Given the description of an element on the screen output the (x, y) to click on. 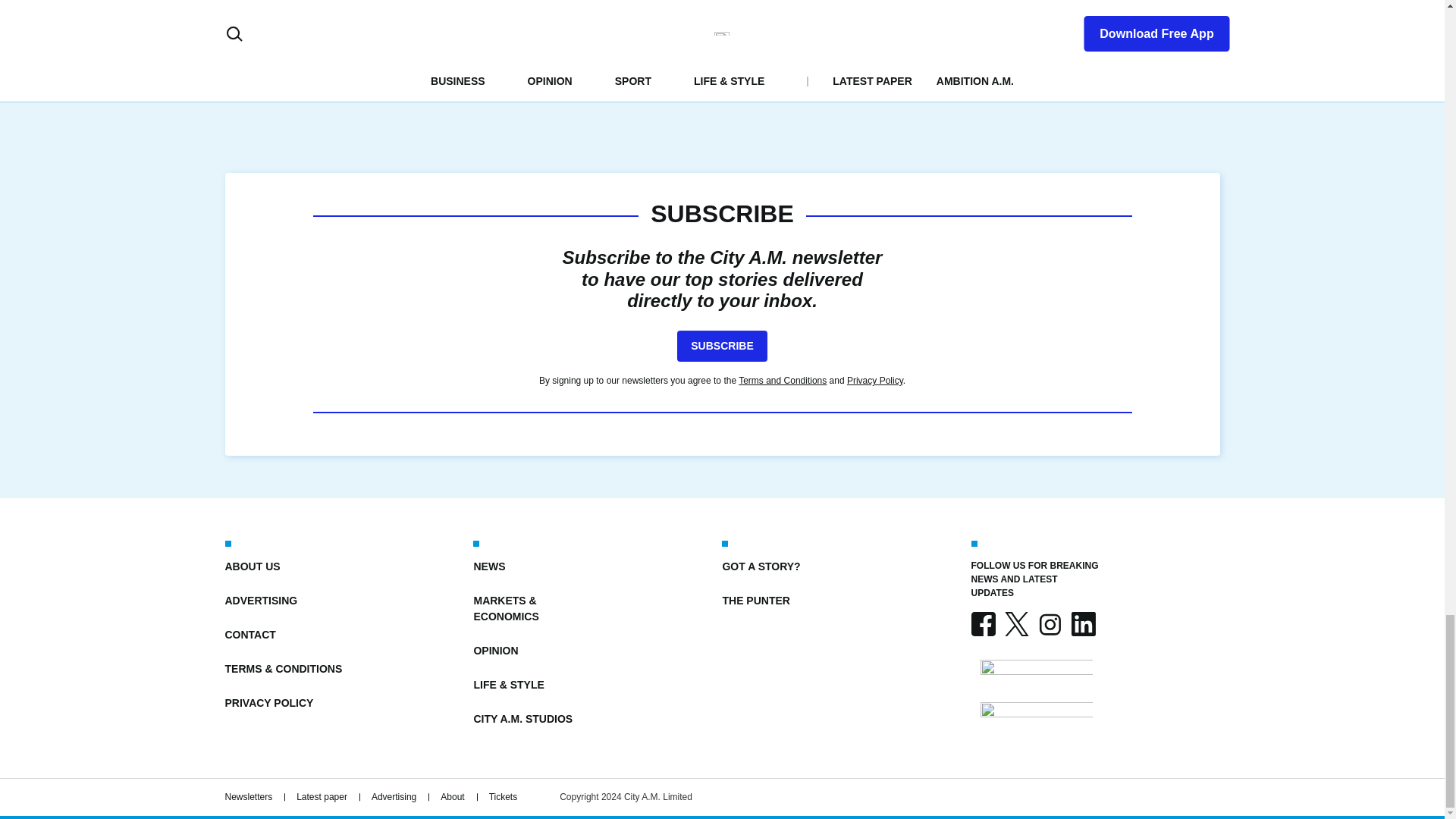
X (1015, 623)
INSTAGRAM (1048, 623)
LINKEDIN (1082, 623)
FACEBOOK (982, 623)
